Given the description of an element on the screen output the (x, y) to click on. 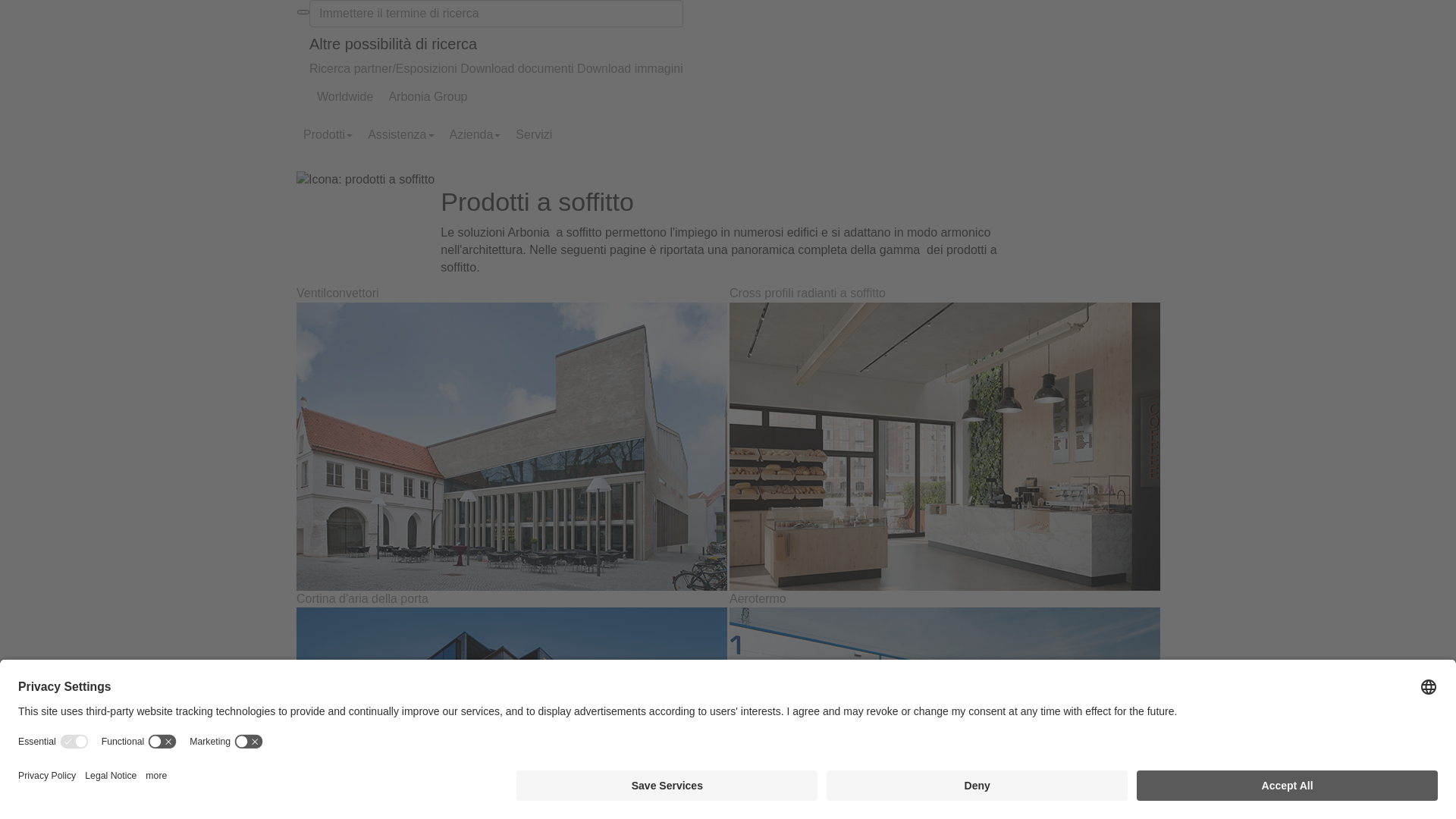
Arbonia Group Element type: text (427, 97)
Prodotti Element type: text (327, 134)
Assistenza Element type: text (400, 134)
Ventilconvettori Element type: text (337, 292)
Deckenstrahlprofile Element type: hover (944, 446)
Azienda Element type: text (475, 134)
Worldwide Element type: text (344, 97)
Aerotermo Element type: text (757, 598)
Cortina d'aria della porta Element type: text (362, 598)
Download immagini Element type: text (630, 68)
Cross profili radianti a soffitto Element type: text (807, 292)
Download documenti Element type: text (516, 68)
Servizi Element type: text (533, 134)
